Given the description of an element on the screen output the (x, y) to click on. 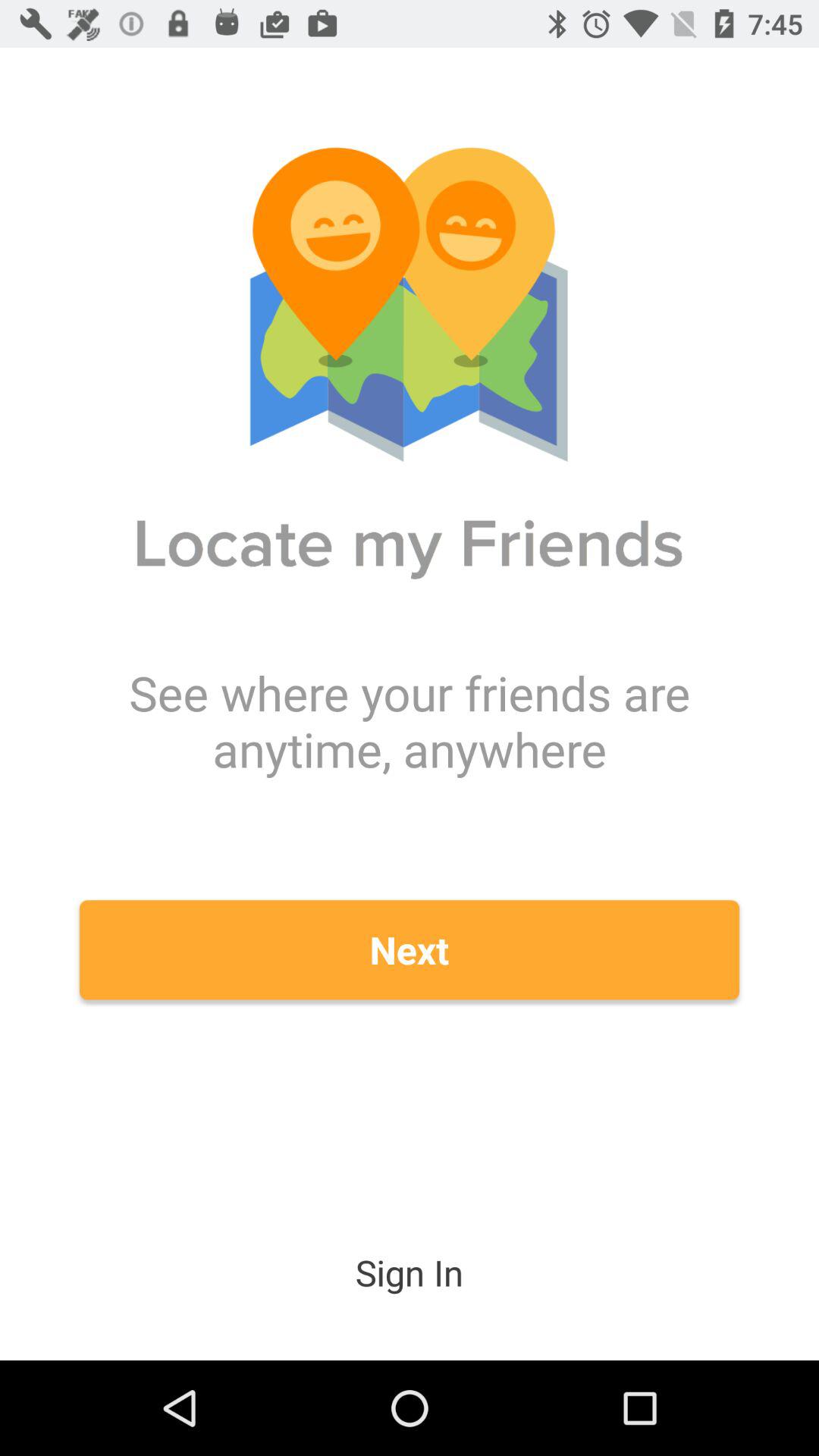
swipe until the sign in (409, 1272)
